Given the description of an element on the screen output the (x, y) to click on. 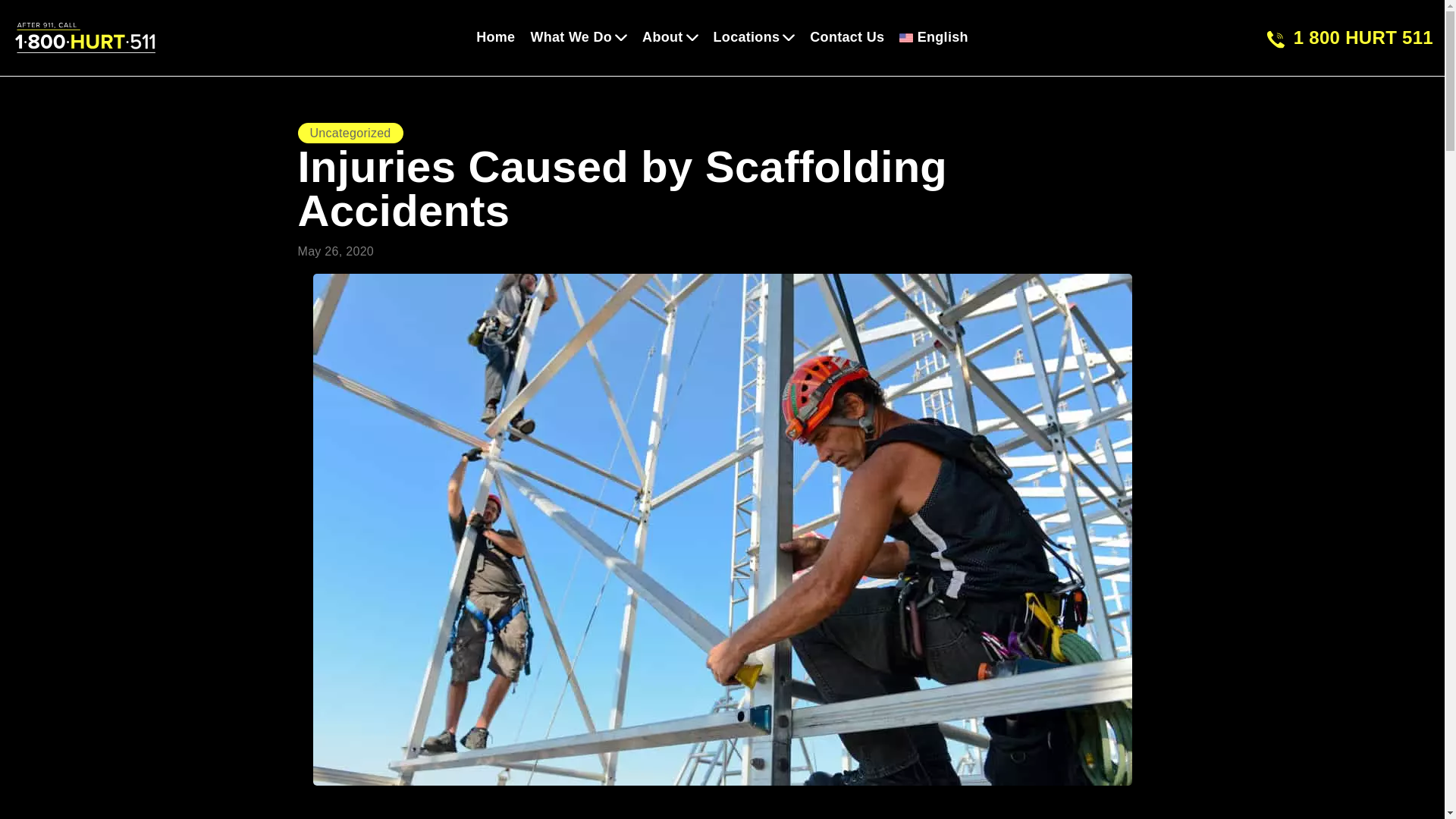
Locations (753, 37)
English (933, 37)
Free Case Review (660, 791)
What We Do (578, 37)
English (933, 37)
Contact Us (846, 37)
Home (495, 37)
1 800 HURT 511 (1349, 37)
Uncategorized (349, 132)
About (669, 37)
